Given the description of an element on the screen output the (x, y) to click on. 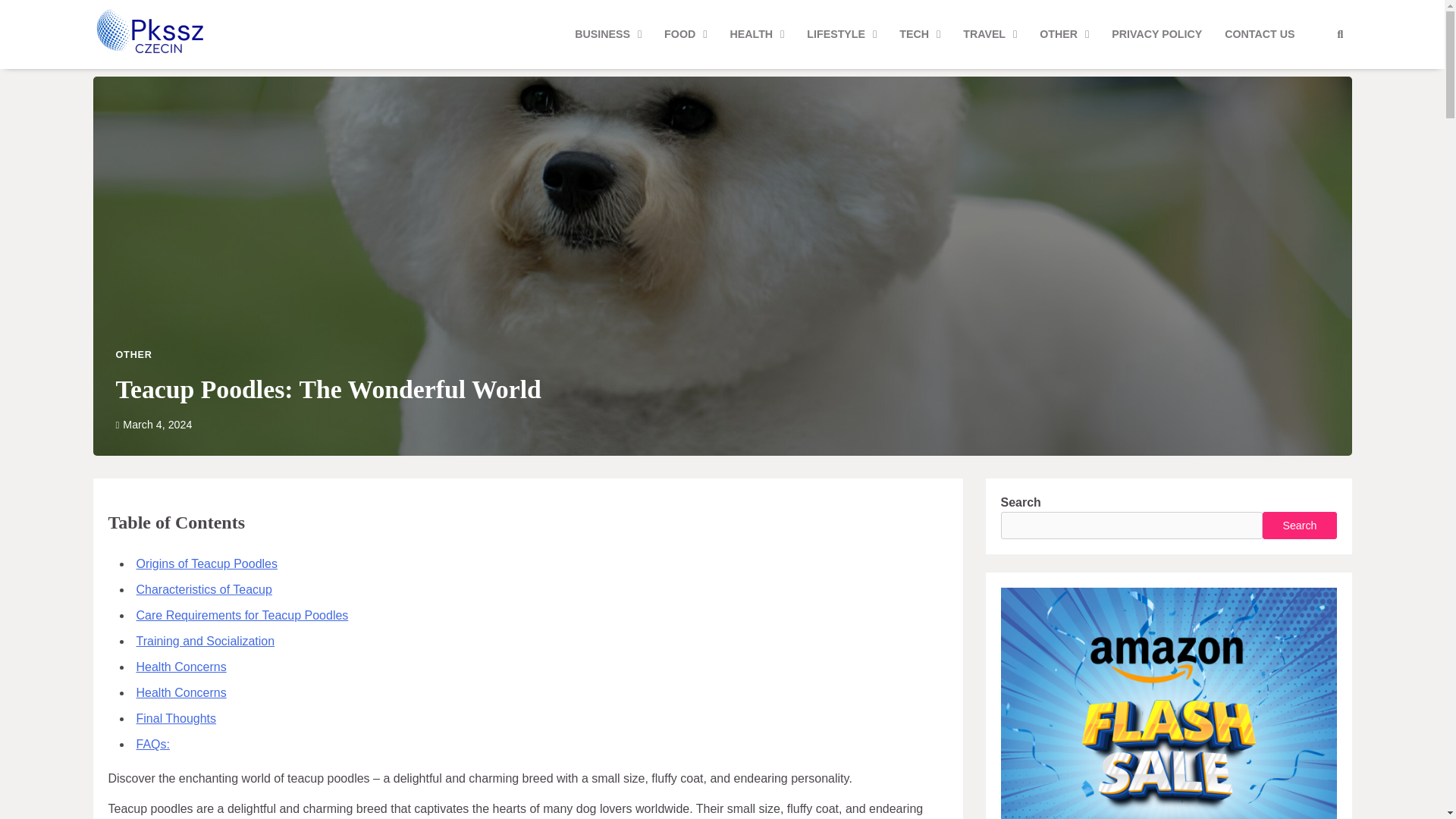
LIFESTYLE (841, 34)
TRAVEL (989, 34)
CONTACT US (1259, 34)
PRIVACY POLICY (1156, 34)
BUSINESS (607, 34)
Search (1339, 33)
Search (1312, 71)
HEALTH (755, 34)
TECH (920, 34)
FOOD (684, 34)
OTHER (1063, 34)
